Given the description of an element on the screen output the (x, y) to click on. 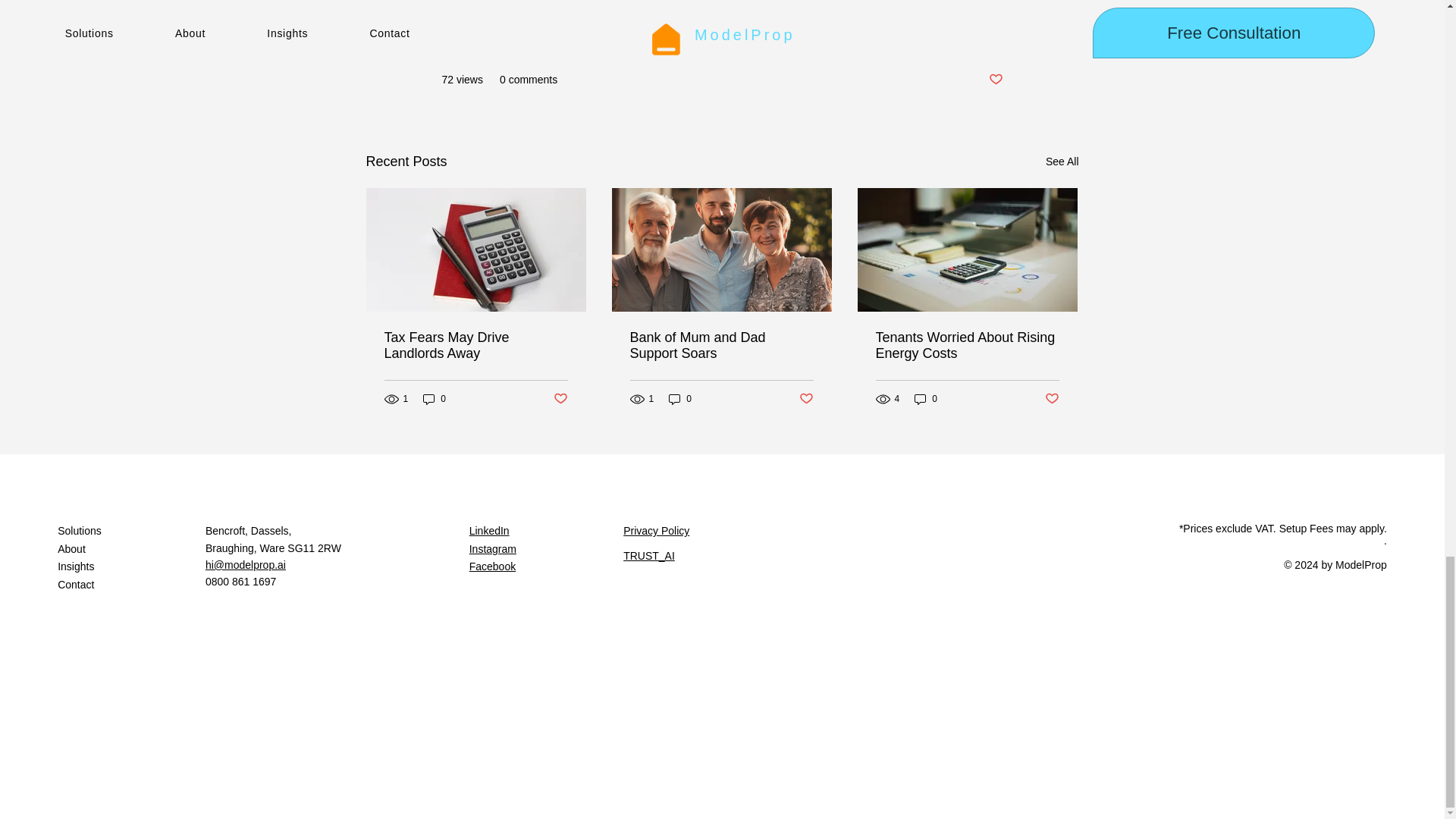
Post not marked as liked (560, 399)
Tenants Worried About Rising Energy Costs (966, 345)
Facebook (491, 566)
0 (925, 399)
0 (434, 399)
About (131, 549)
Post not marked as liked (995, 79)
Bank of Mum and Dad Support Soars (720, 345)
0 (679, 399)
Instagram (492, 548)
